Given the description of an element on the screen output the (x, y) to click on. 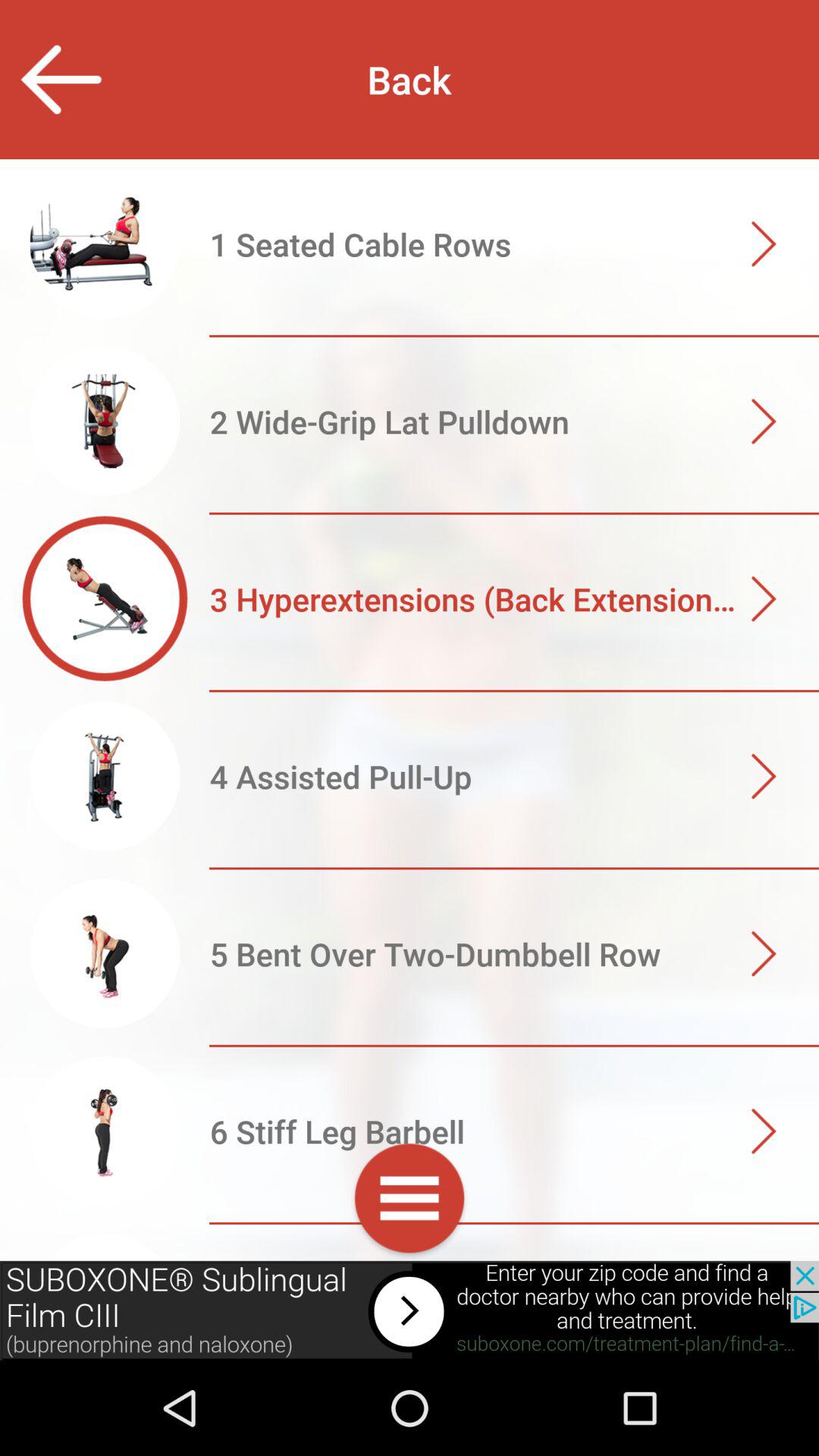
back (59, 79)
